Given the description of an element on the screen output the (x, y) to click on. 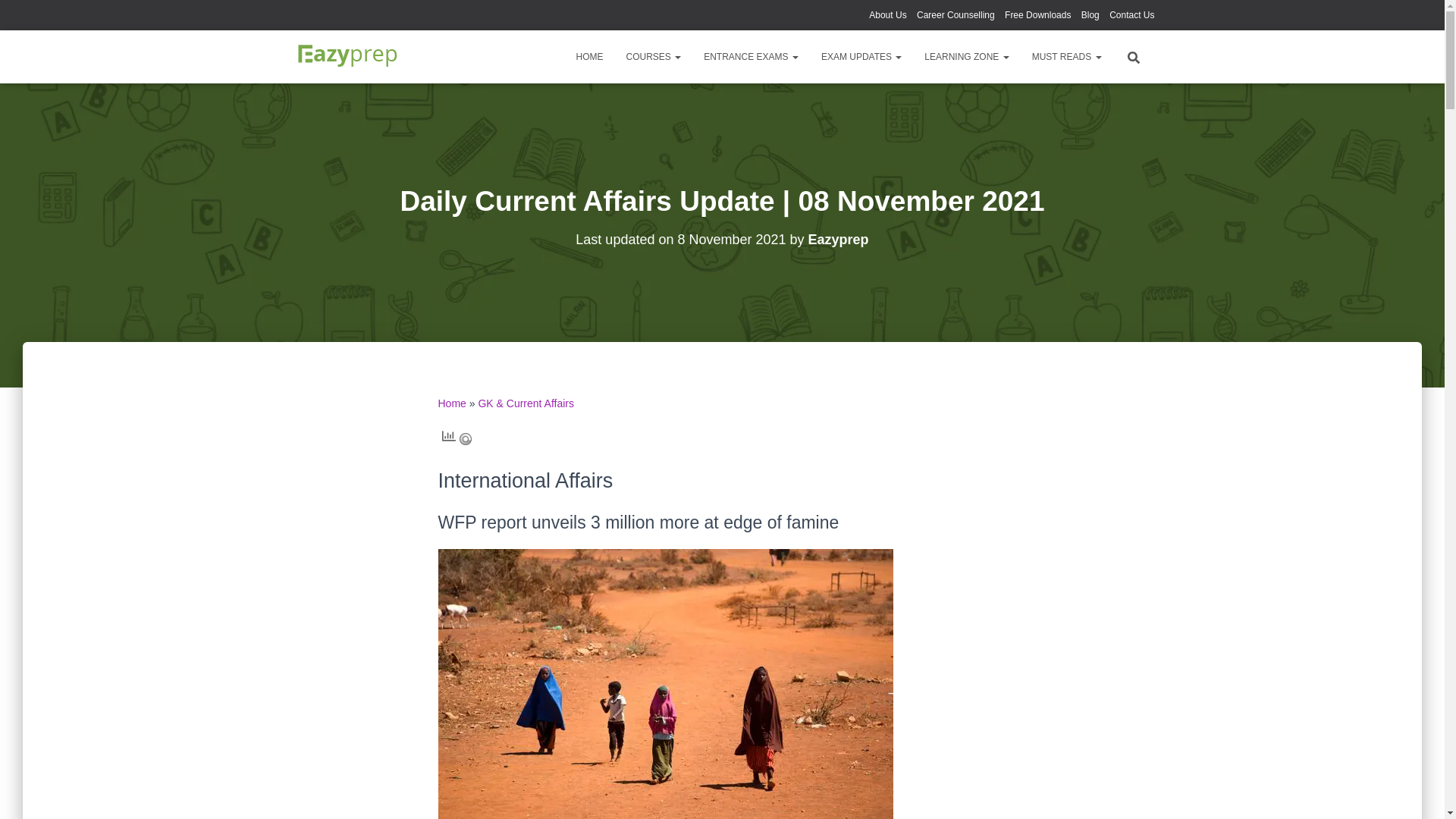
HOME (589, 56)
Free Downloads (1037, 15)
Home (589, 56)
Eazyprep (346, 56)
Free Downloads (1037, 15)
Entrance Exams (751, 56)
Courses (653, 56)
Career Counselling (955, 15)
Contact Us (1131, 15)
Career Counselling (955, 15)
